Given the description of an element on the screen output the (x, y) to click on. 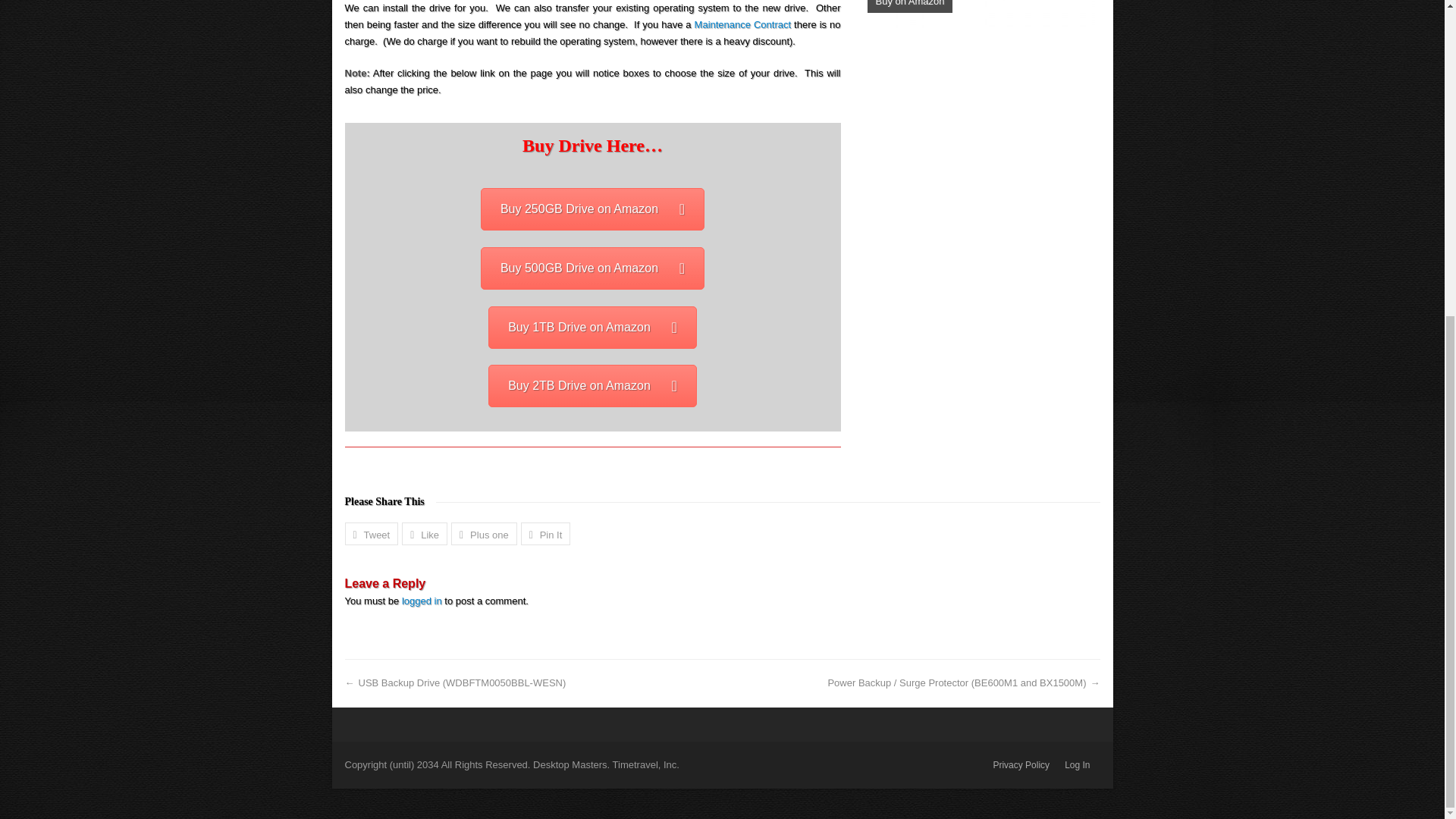
Pin It (545, 533)
Go to Amazon (592, 268)
Buy on Amazon (980, 13)
Samsung 840 Pro 2.5 Inch Solid State Drive (980, 13)
logged in (421, 600)
Go to Amazon (592, 327)
Go to Amazon (592, 209)
Plus one (483, 533)
Maintenance Contract (743, 24)
Go to Amazon (592, 385)
